Given the description of an element on the screen output the (x, y) to click on. 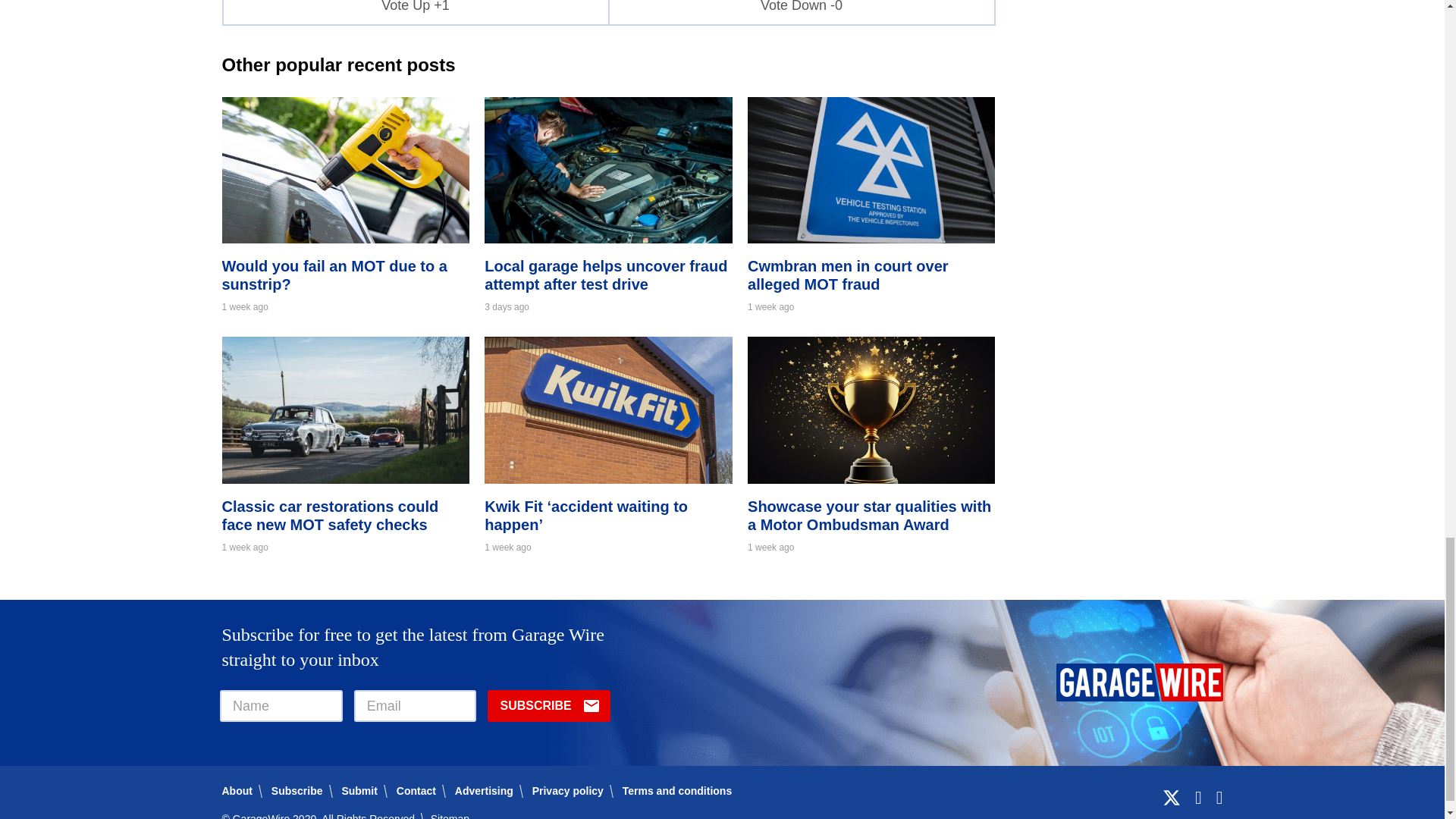
Classic car restorations could face new MOT safety checks (329, 515)
Local garage helps uncover fraud attempt after test drive (608, 238)
Classic car restorations could face new MOT safety checks (344, 478)
Would you fail an MOT due to a sunstrip? (344, 238)
Local garage helps uncover fraud attempt after test drive (605, 274)
Cwmbran men in court over alleged MOT fraud (848, 274)
Would you fail an MOT due to a sunstrip? (333, 274)
Cwmbran men in court over alleged MOT fraud (871, 238)
